Given the description of an element on the screen output the (x, y) to click on. 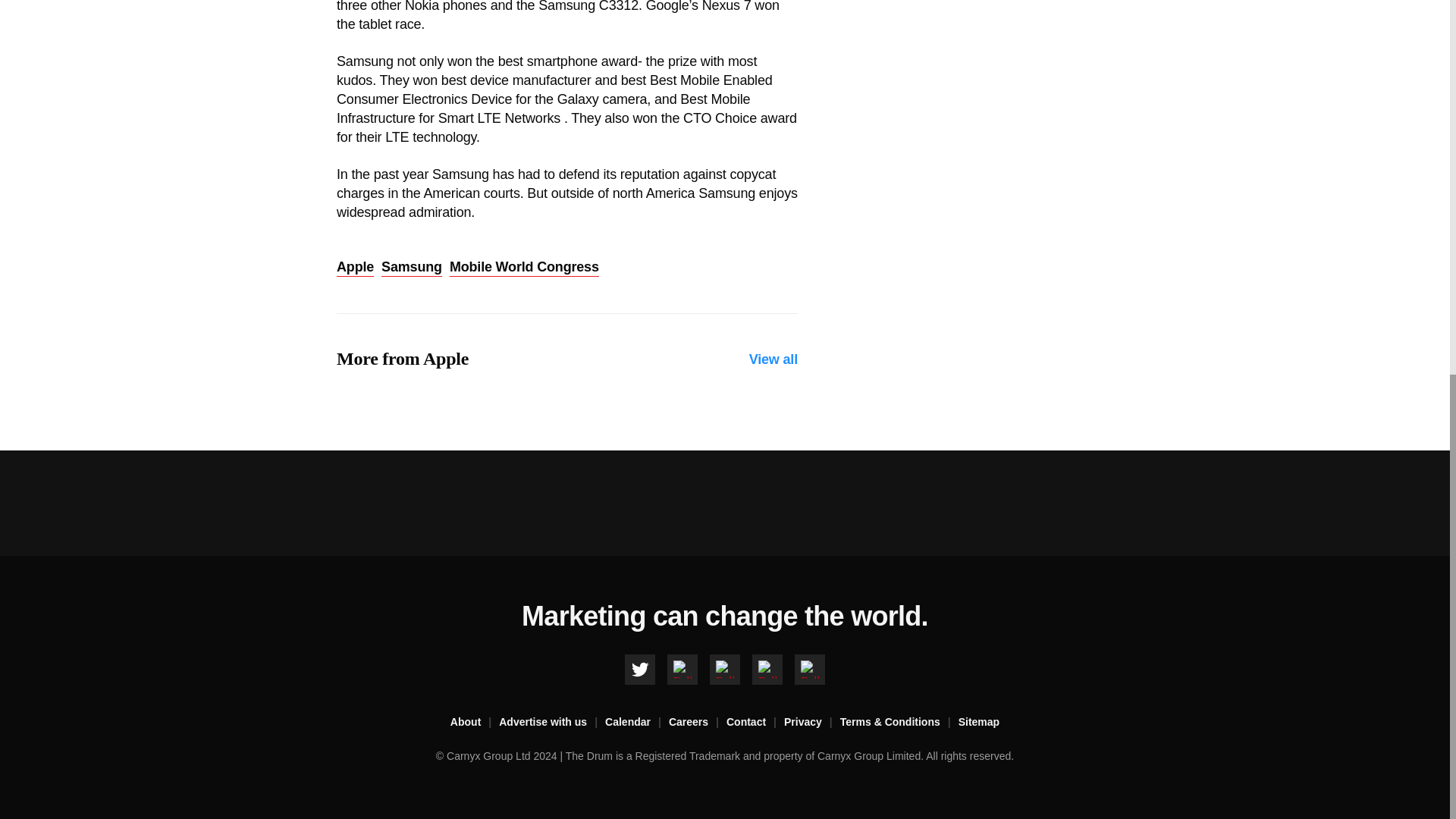
Privacy (812, 722)
View all (773, 359)
Mobile World Congress (523, 267)
About (474, 722)
Advertise with us (552, 722)
Samsung (411, 267)
Contact (755, 722)
Apple (355, 267)
Careers (697, 722)
Calendar (636, 722)
